Given the description of an element on the screen output the (x, y) to click on. 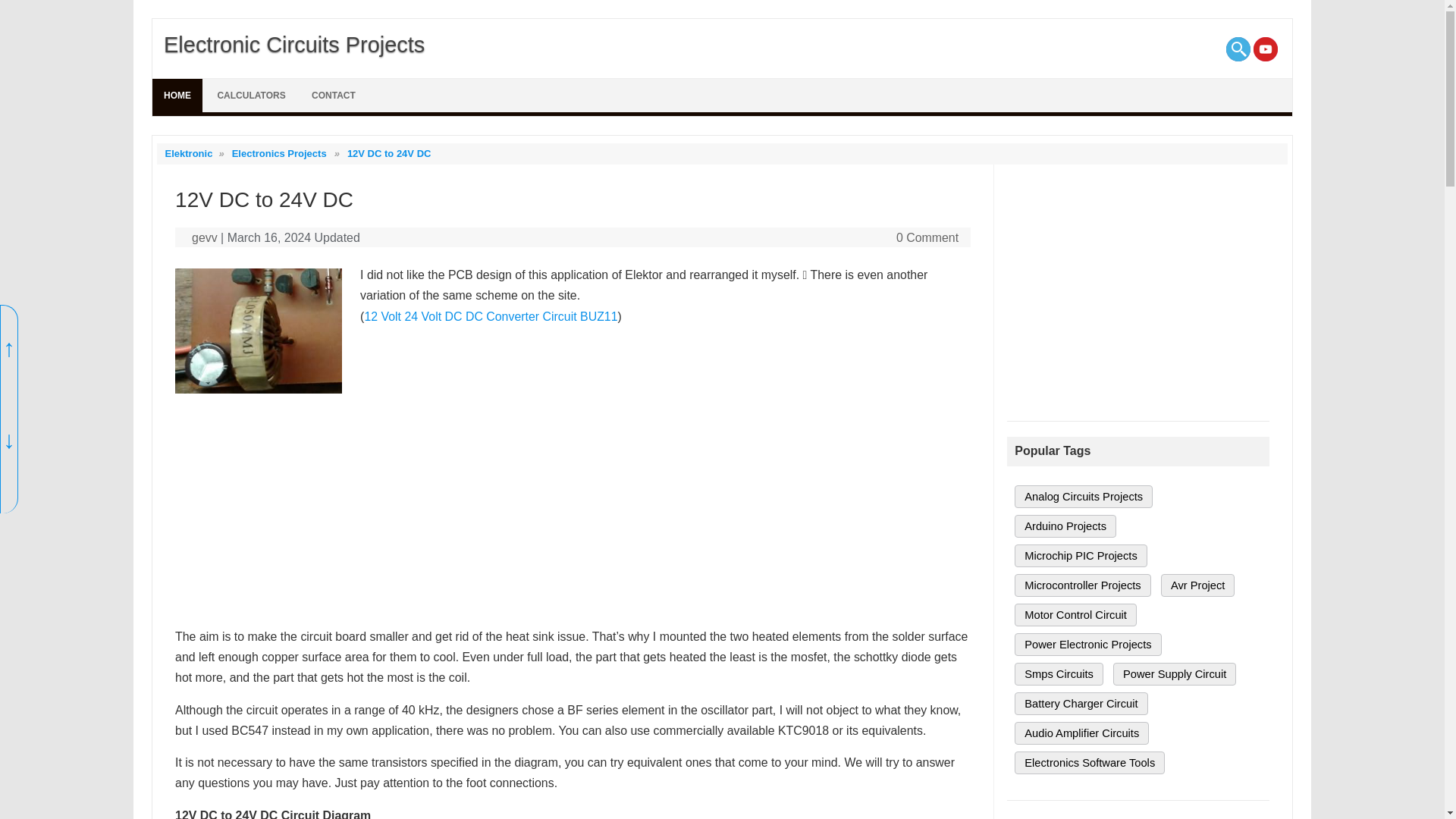
12V DC to 24V DC (388, 153)
Elektronic (186, 153)
Advertisement (1138, 292)
Electronic Circuits Projects (288, 44)
Battery Charger Circuit (1080, 703)
Avr Project (1197, 585)
Microcontroller Projects (1082, 585)
Elektronik Devreler Projeler (288, 44)
CONTACT (332, 95)
